Given the description of an element on the screen output the (x, y) to click on. 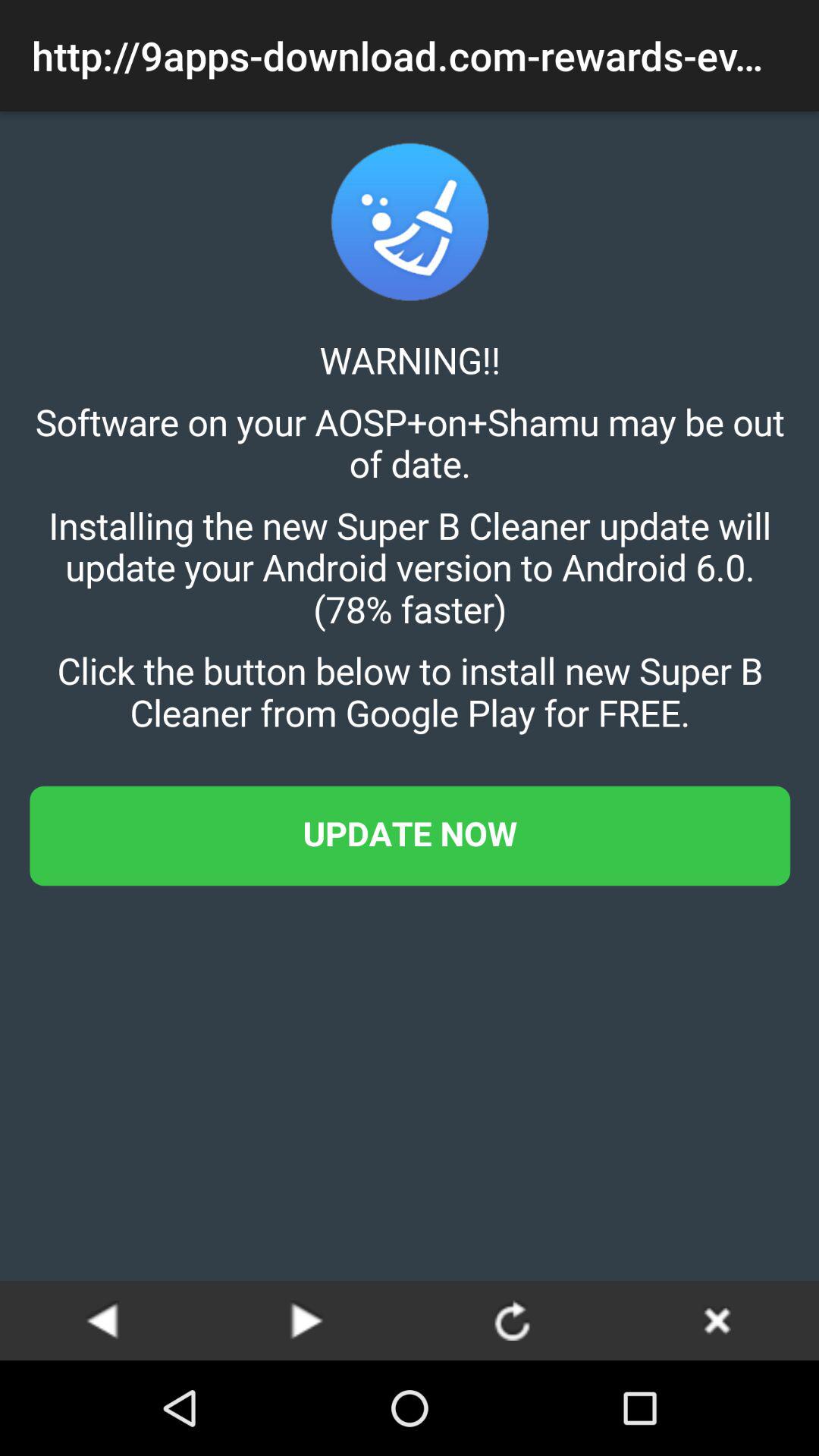
close button (716, 1320)
